Given the description of an element on the screen output the (x, y) to click on. 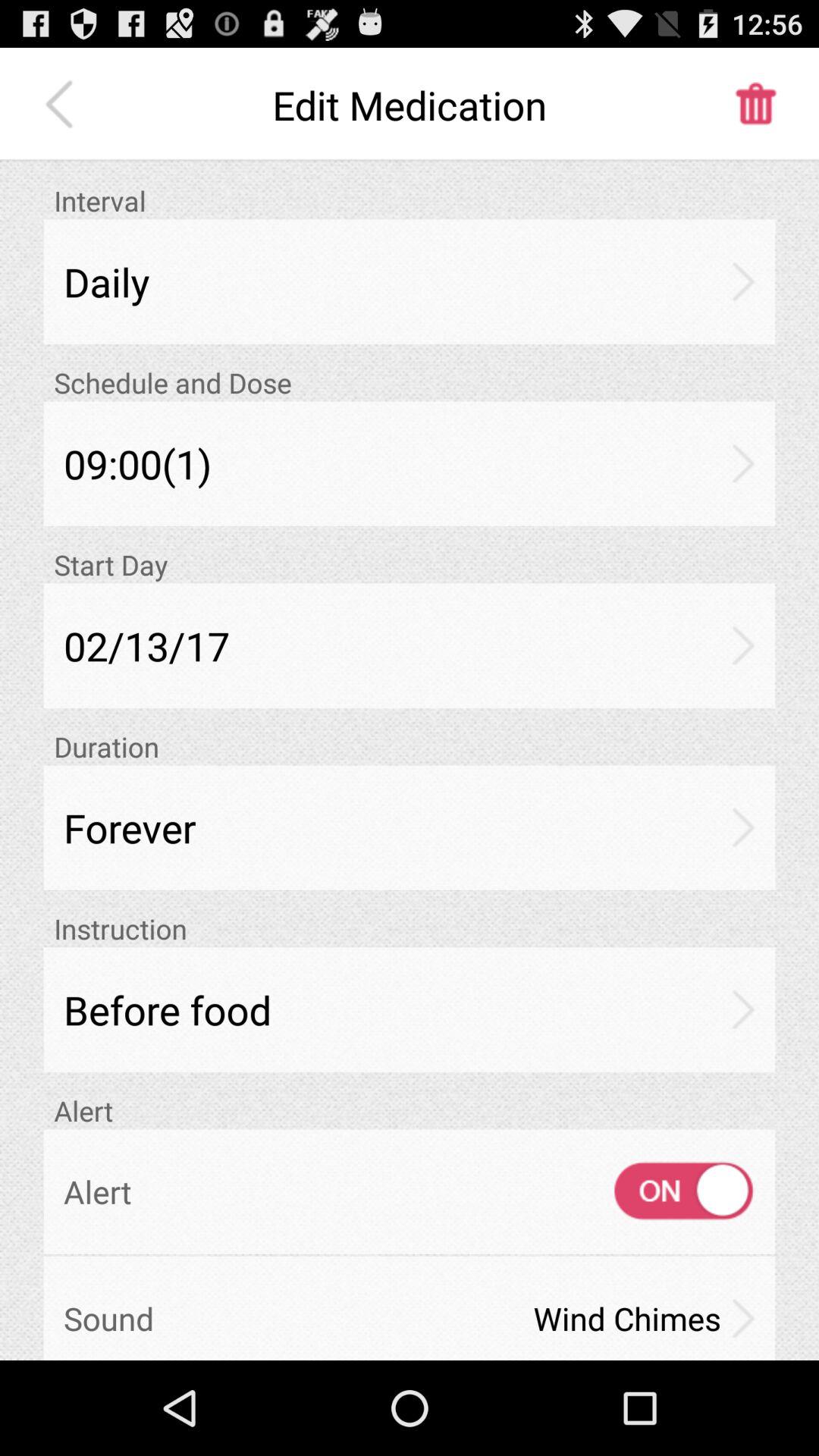
turn on item above start day (409, 463)
